Given the description of an element on the screen output the (x, y) to click on. 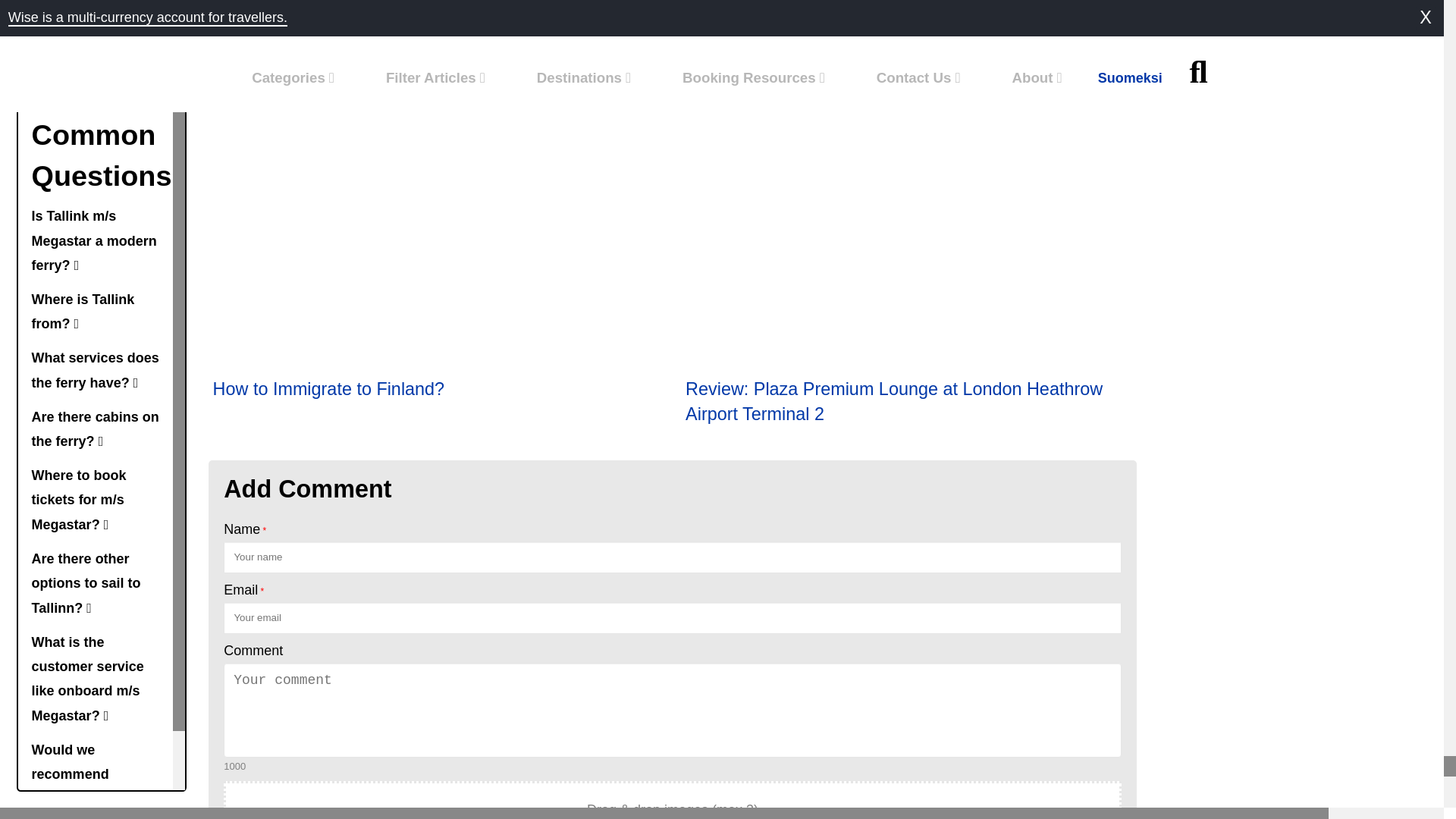
Enter your name here (672, 557)
Enter your comment here (672, 709)
Enter your email here (672, 617)
